Given the description of an element on the screen output the (x, y) to click on. 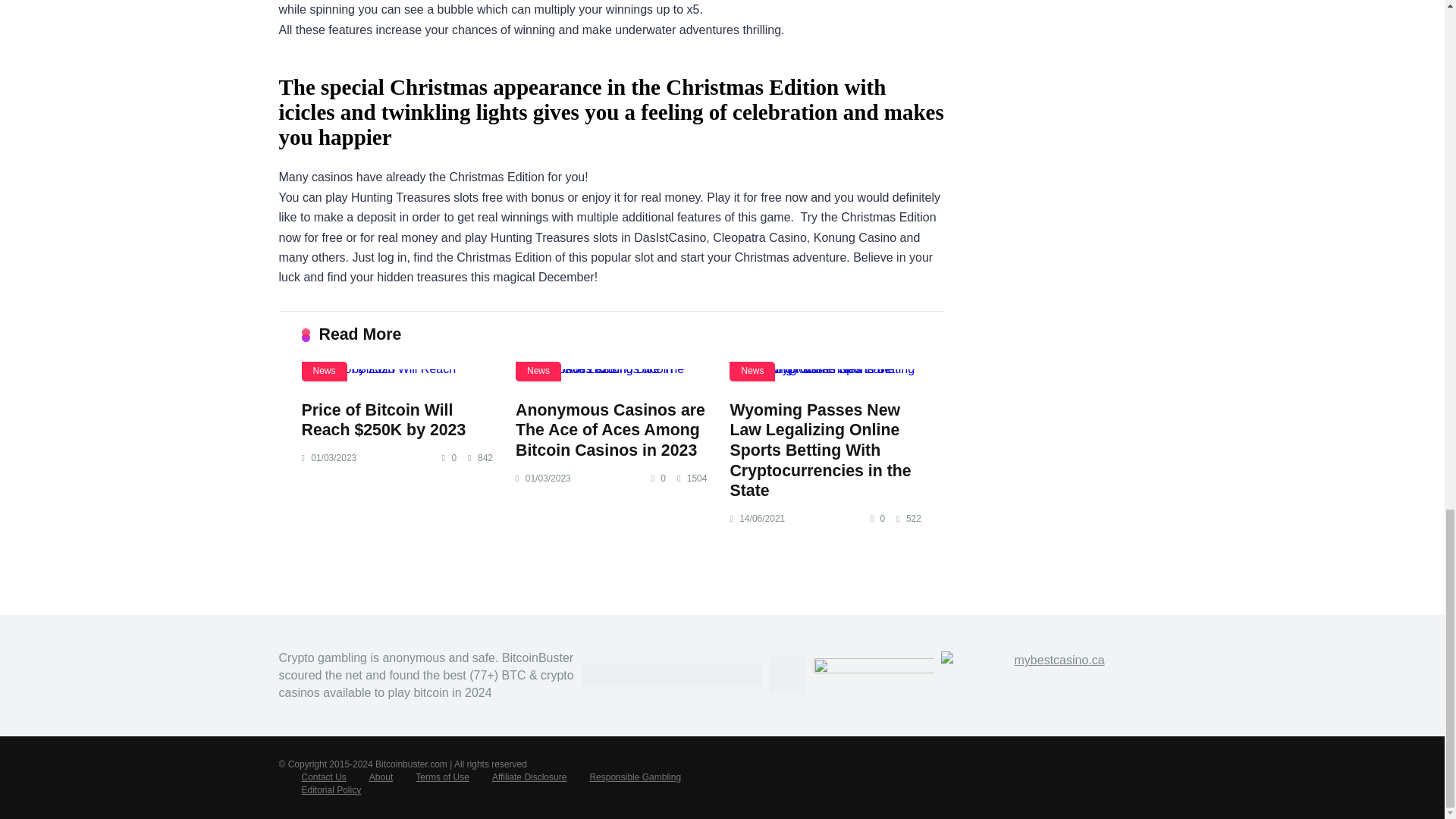
News (324, 370)
